Given the description of an element on the screen output the (x, y) to click on. 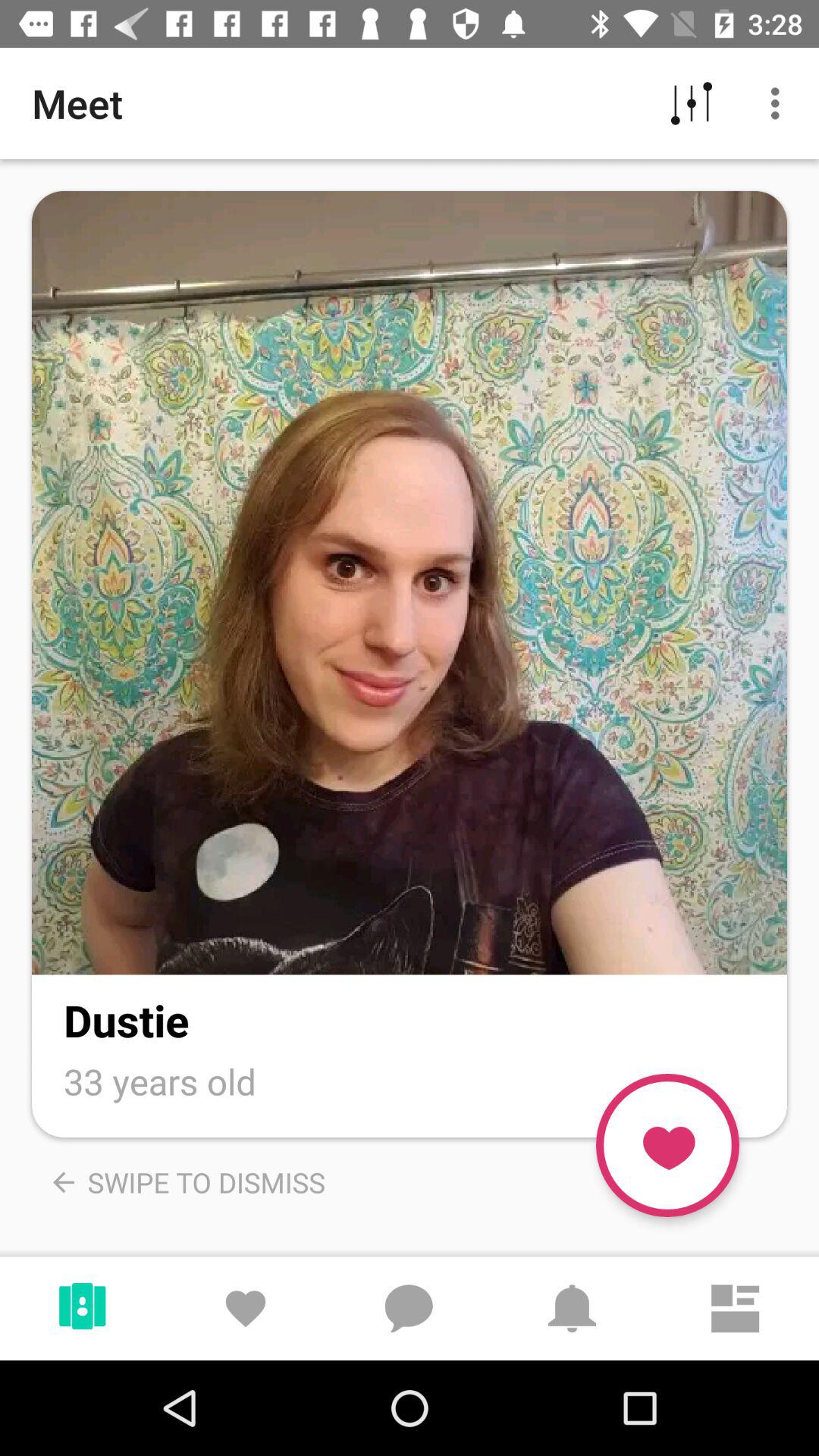
view photos (409, 582)
